Given the description of an element on the screen output the (x, y) to click on. 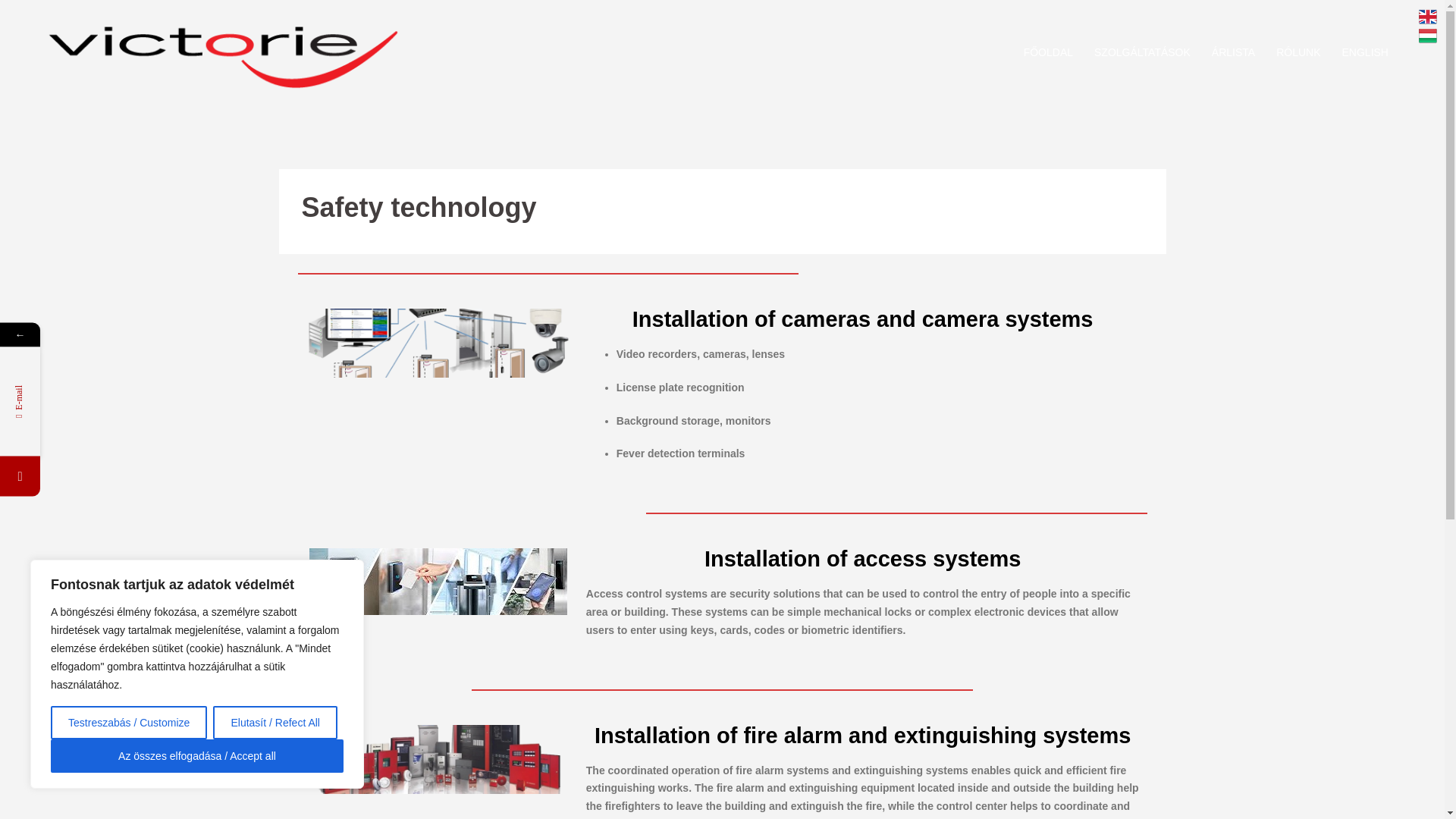
Hungary  (1427, 35)
Phone (20, 476)
ENGLISH (1365, 53)
English  (1427, 16)
Elektromos projektek (223, 51)
Phone (92, 476)
